Given the description of an element on the screen output the (x, y) to click on. 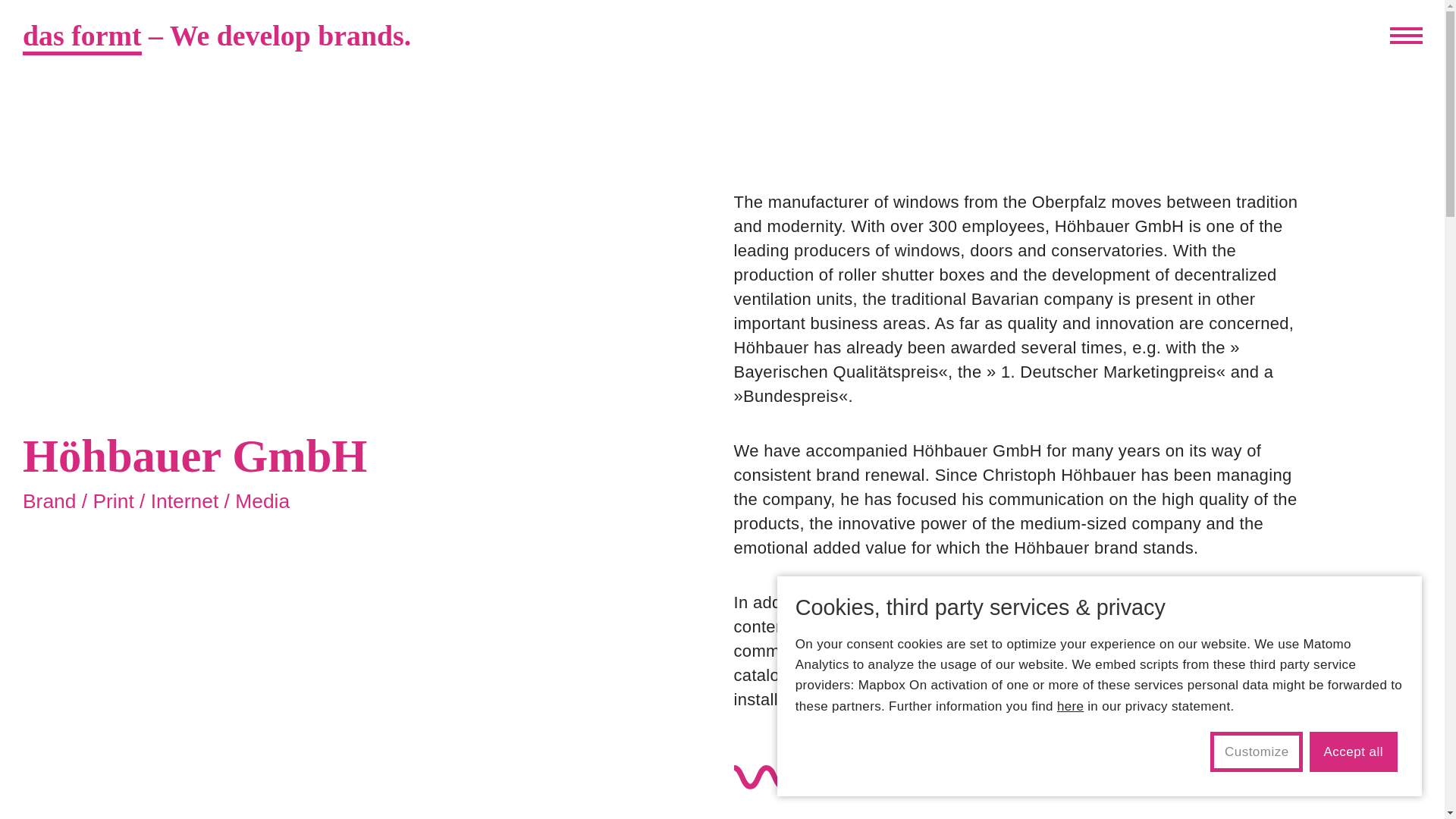
Internet (185, 500)
Media (261, 500)
das formt (82, 37)
Brand (49, 500)
Print (113, 500)
